Given the description of an element on the screen output the (x, y) to click on. 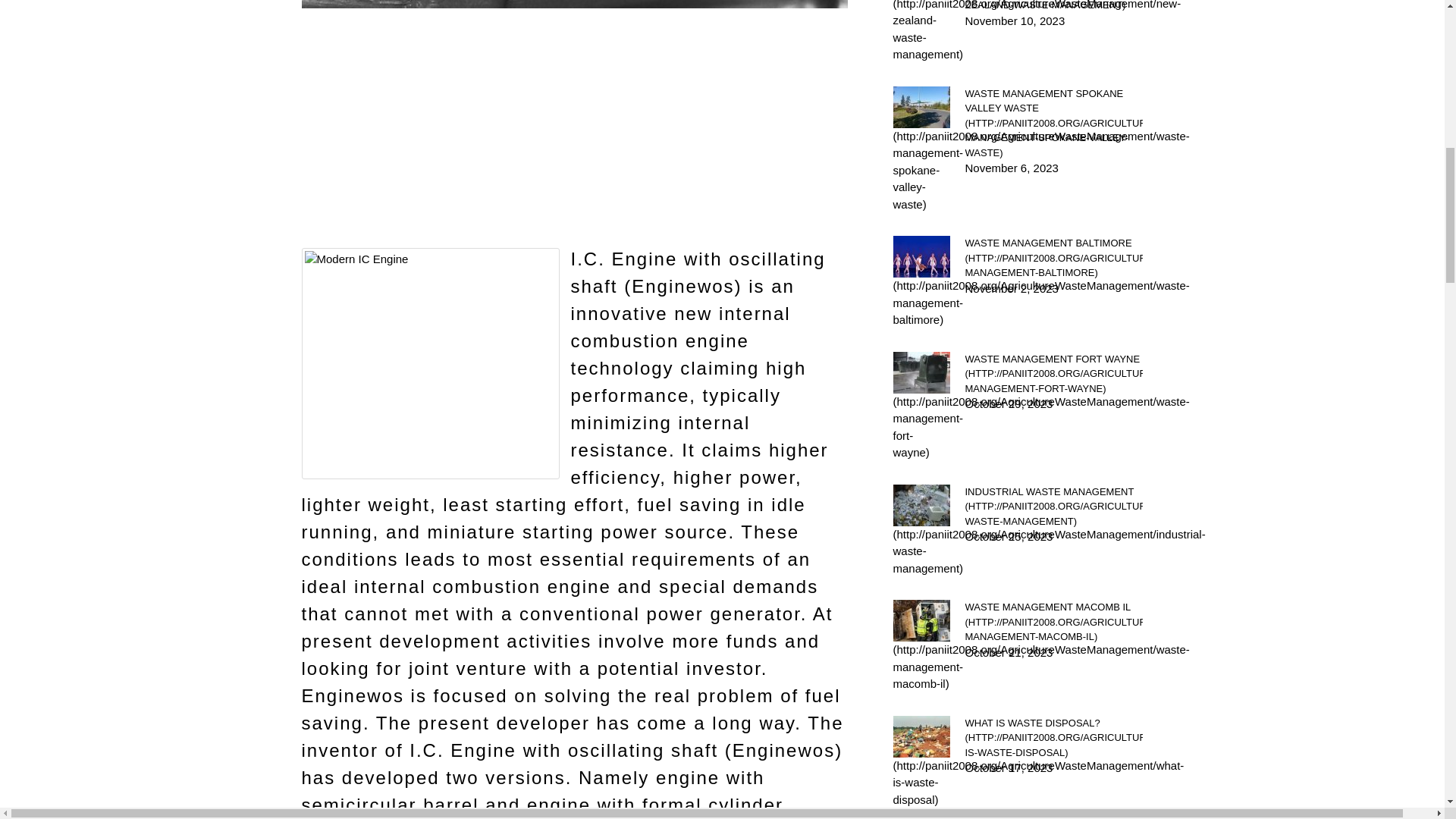
INDUSTRIAL WASTE MANAGEMENT (1052, 506)
Advertisement (574, 139)
WASTE MANAGEMENT FORT WAYNE (1052, 374)
WASTE MANAGEMENT BALTIMORE (1052, 257)
WHAT IS WASTE DISPOSAL? (1052, 737)
WASTE MANAGEMENT MACOMB IL (1052, 621)
NEW ZEALAND WASTE MANAGEMENT (1052, 6)
WASTE MANAGEMENT SPOKANE VALLEY WASTE (1052, 123)
